Given the description of an element on the screen output the (x, y) to click on. 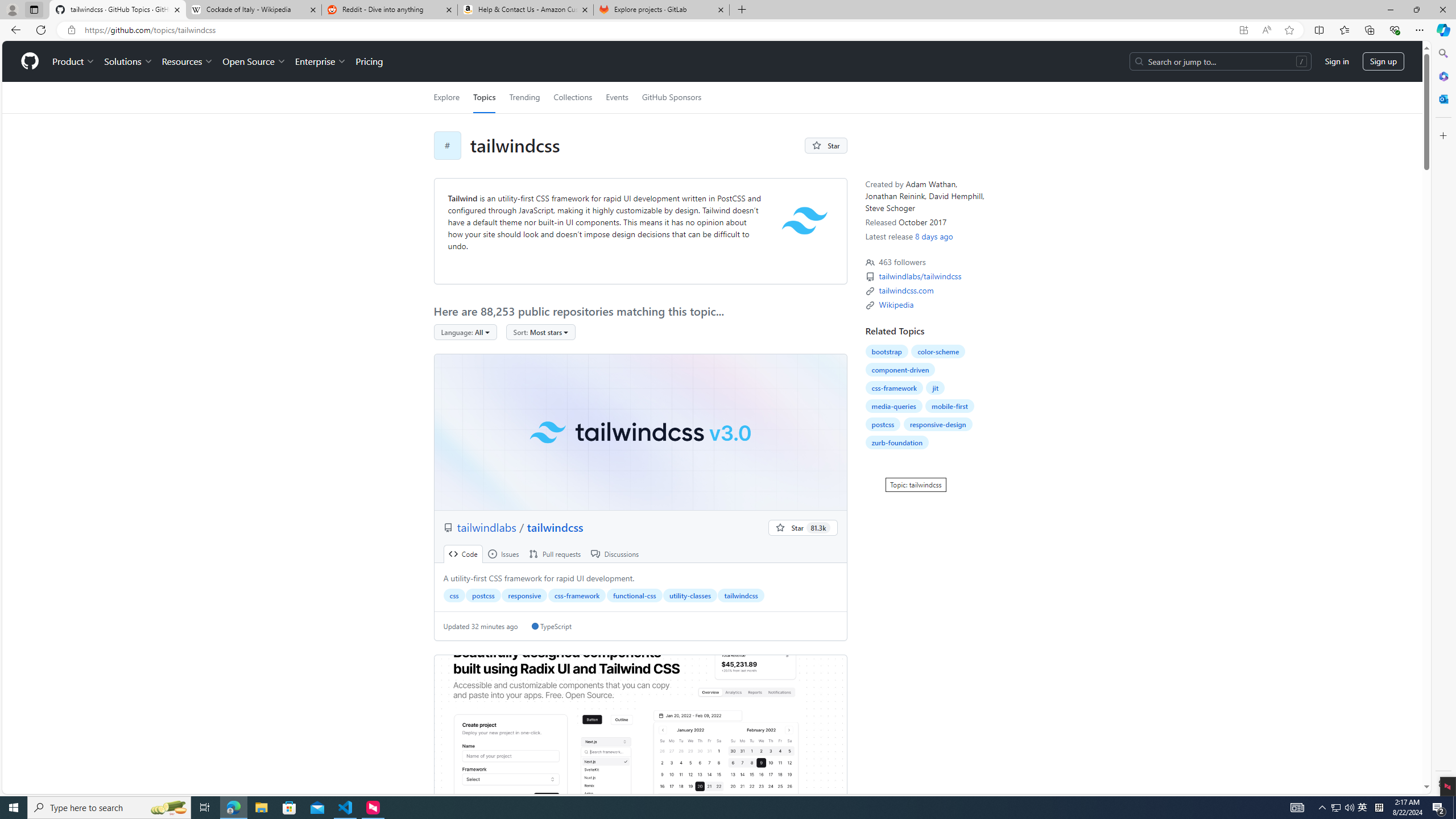
responsive (524, 594)
mobile-first (950, 405)
jit (935, 387)
Pricing (368, 60)
utility-classes (689, 594)
Enterprise (319, 60)
You must be signed in to star a repository (802, 527)
css (453, 594)
